Given the description of an element on the screen output the (x, y) to click on. 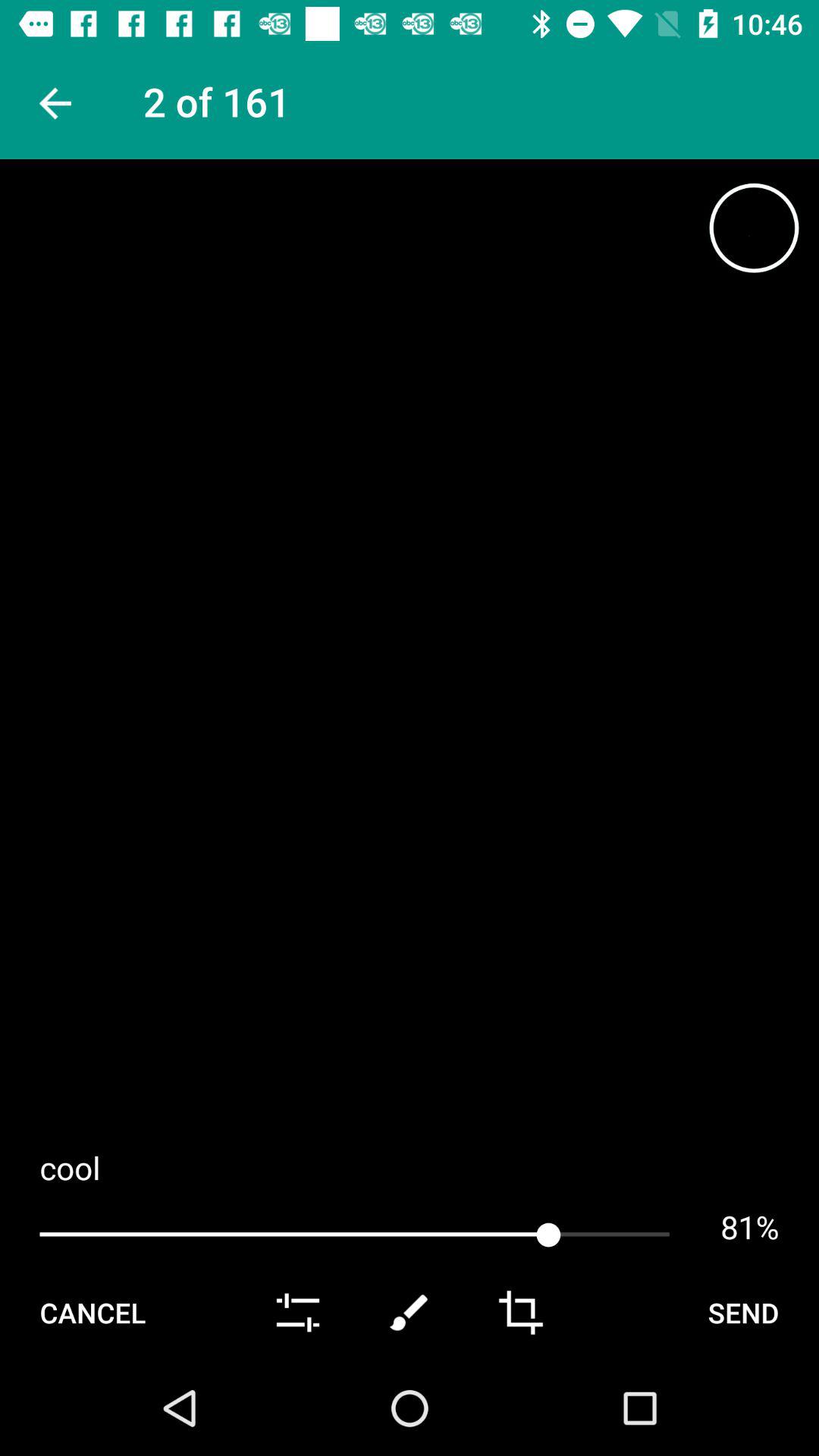
volume control (297, 1312)
